Given the description of an element on the screen output the (x, y) to click on. 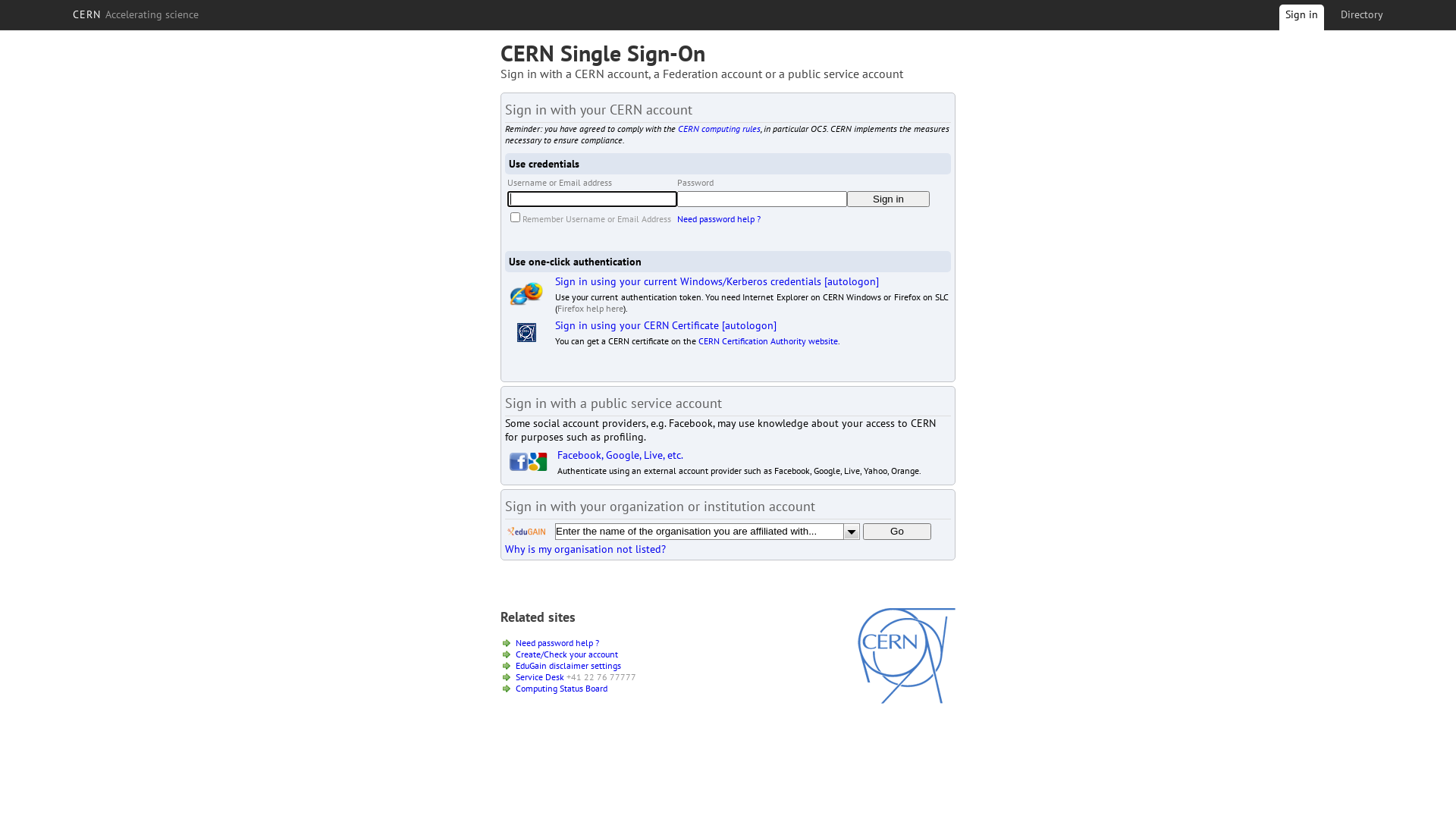
Directory Element type: text (1361, 14)
Enter your Username or Email Address Element type: hover (592, 199)
Go Element type: text (896, 531)
Sign in Element type: text (888, 199)
Create/Check your account Element type: text (566, 653)
Computing Status Board Element type: text (561, 687)
[show debug information] Element type: text (549, 565)
Sign in Element type: text (1301, 19)
CERN Certification Authority website Element type: text (767, 340)
Facebook, Google, Live, etc. Element type: text (620, 454)
CERN computing rules Element type: text (718, 128)
[autologon] Element type: text (851, 281)
Sign in using your current Windows/Kerberos credentials Element type: text (688, 281)
Need password help ? Element type: text (718, 218)
Need password help ? Element type: text (557, 642)
Why is my organisation not listed? Element type: text (585, 548)
CERN Single Sign-On Element type: text (602, 52)
EduGain disclaimer settings Element type: text (568, 665)
Firefox help here Element type: text (590, 307)
Sign in using your CERN Certificate Element type: text (636, 325)
Service Desk Element type: text (539, 676)
[autologon] Element type: text (748, 325)
CERN Accelerating science Element type: text (135, 14)
CERN Element type: hover (906, 699)
